Given the description of an element on the screen output the (x, y) to click on. 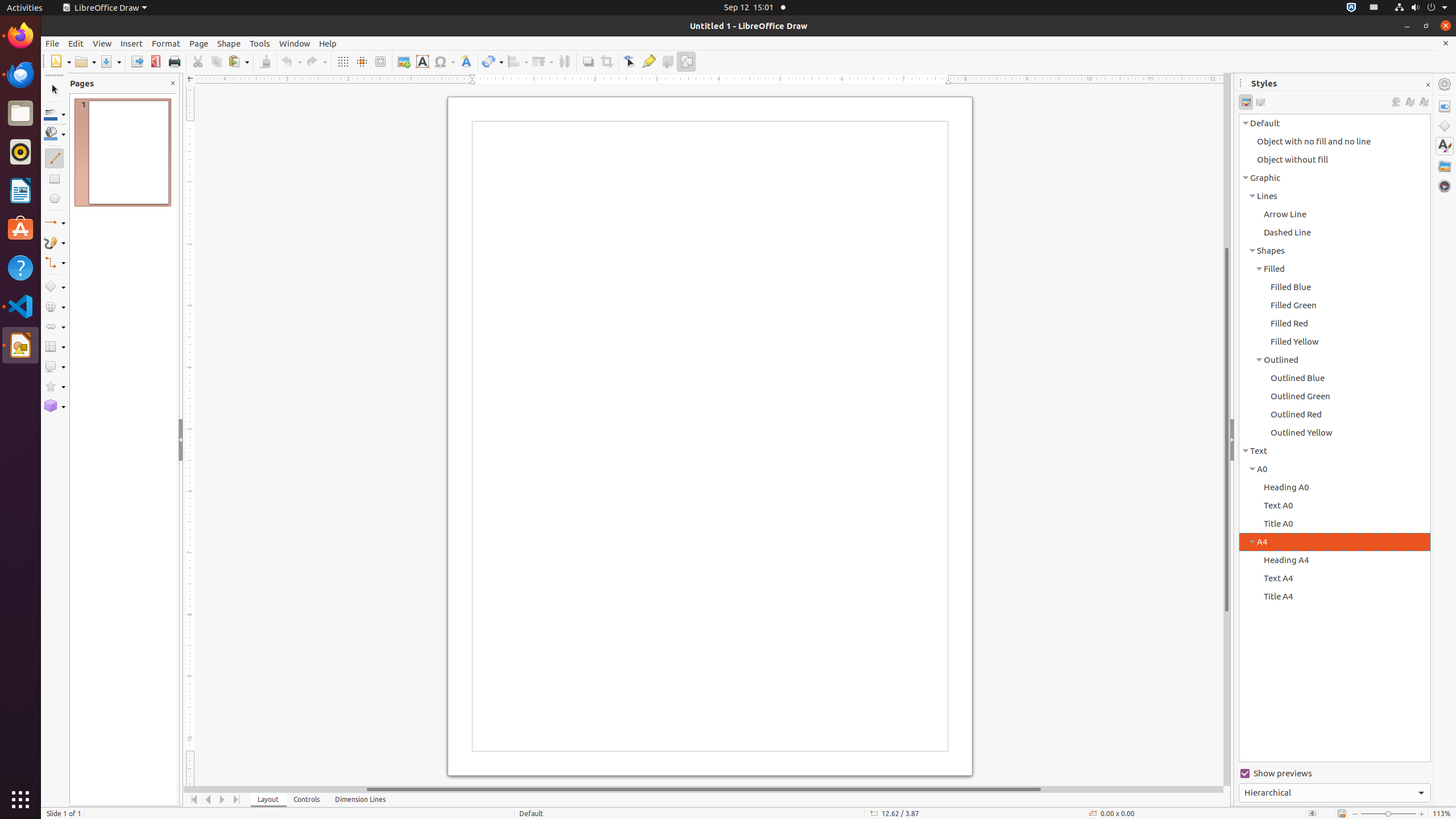
View Element type: menu (102, 43)
Fontwork Style Element type: toggle-button (465, 61)
:1.72/StatusNotifierItem Element type: menu (1350, 7)
